Given the description of an element on the screen output the (x, y) to click on. 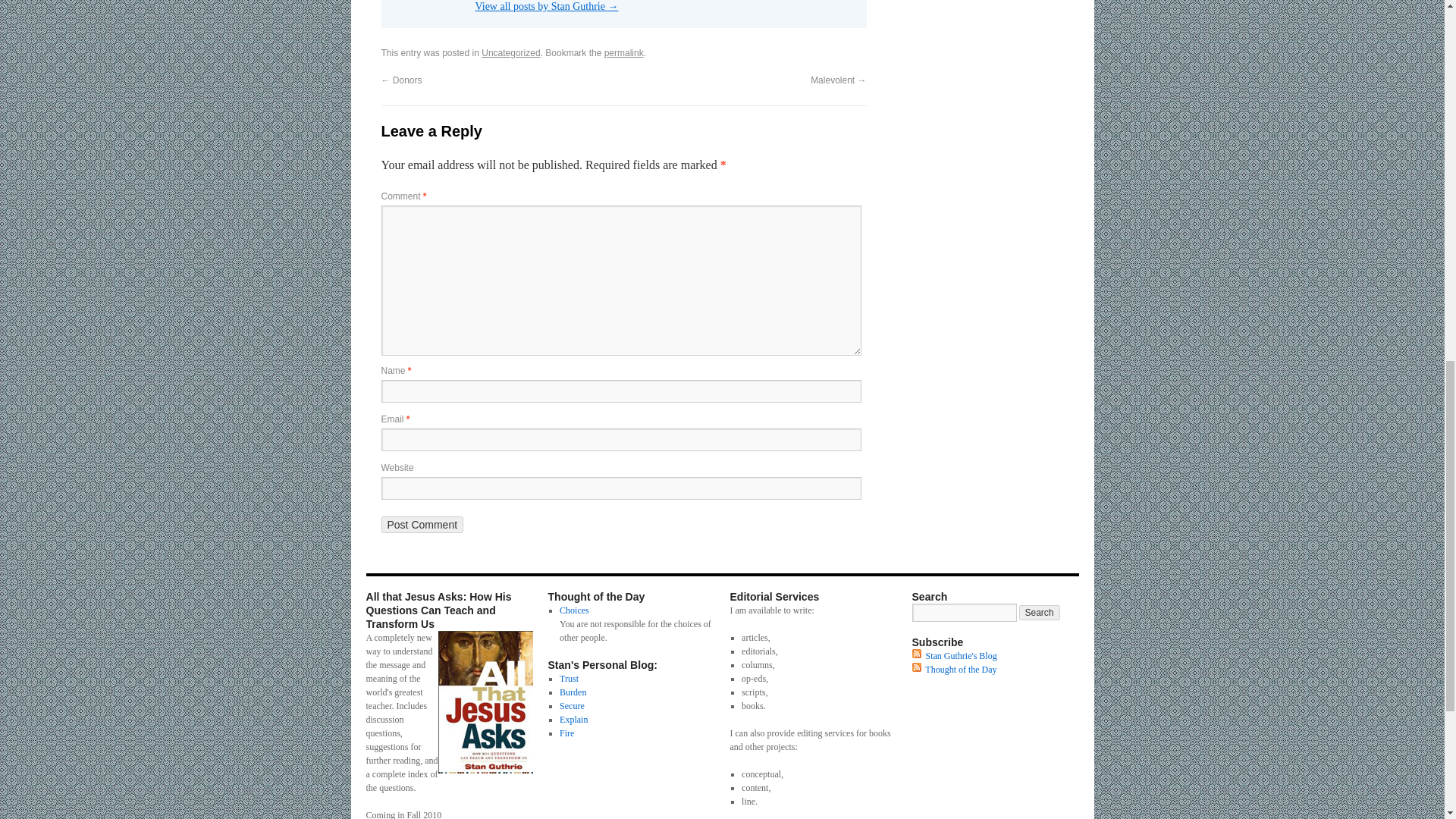
Post Comment (421, 524)
Uncategorized (510, 52)
Permanent link to Choices (574, 610)
Post Comment (421, 524)
permalink (623, 52)
Permalink to Going with Jesus into Our Fears (623, 52)
Search (1039, 612)
